Given the description of an element on the screen output the (x, y) to click on. 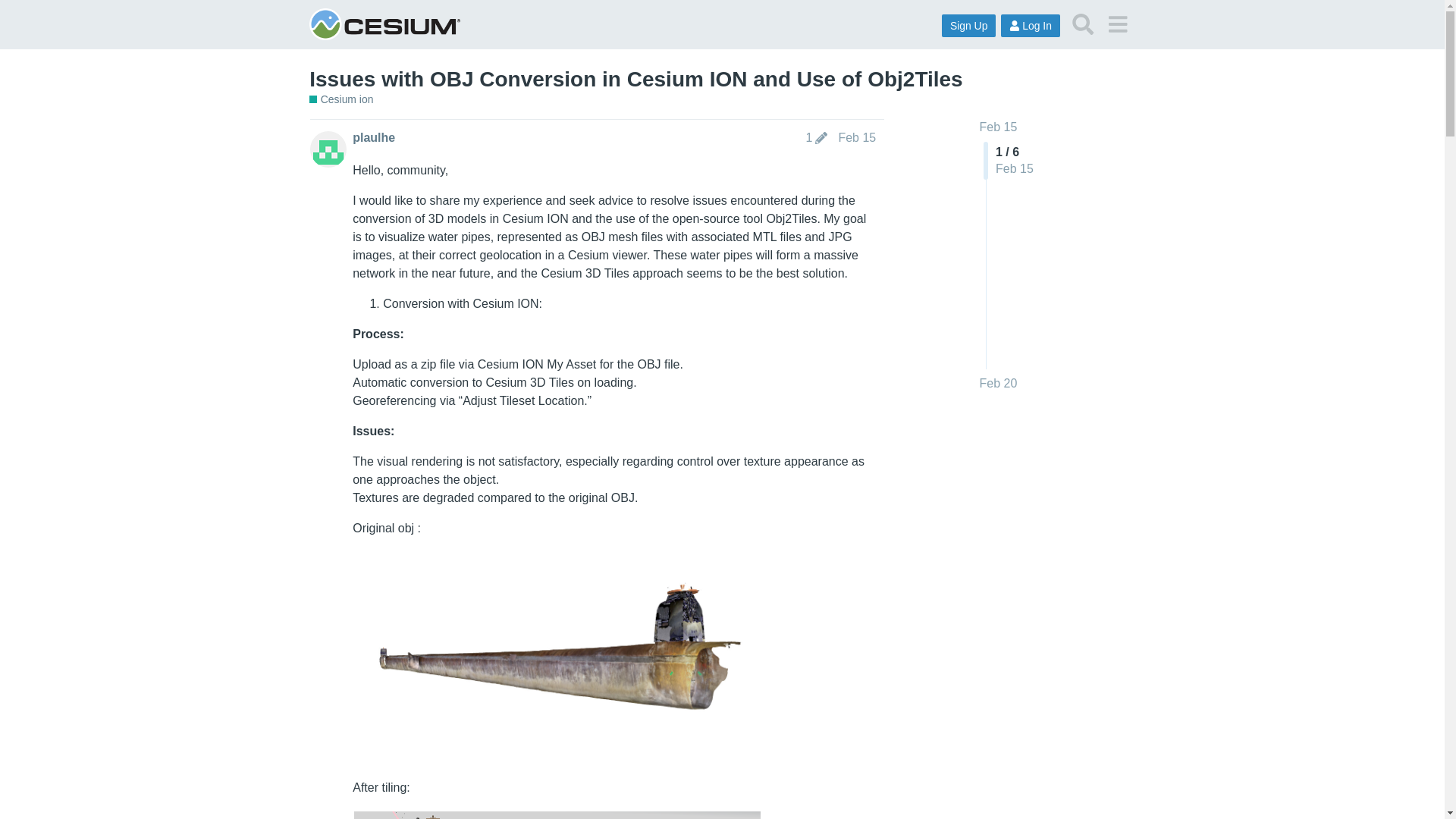
Log In (1030, 25)
Sign Up (968, 25)
Jump to the first post (998, 126)
menu (1117, 23)
plaulhe (373, 137)
Feb 20 (998, 383)
Feb 15 (998, 126)
Jump to the last post (998, 382)
Post date (857, 137)
Search (1082, 23)
post last edited on Feb 17, 2024 3:55 am (815, 137)
1 (815, 137)
Cesium ion (340, 99)
